Given the description of an element on the screen output the (x, y) to click on. 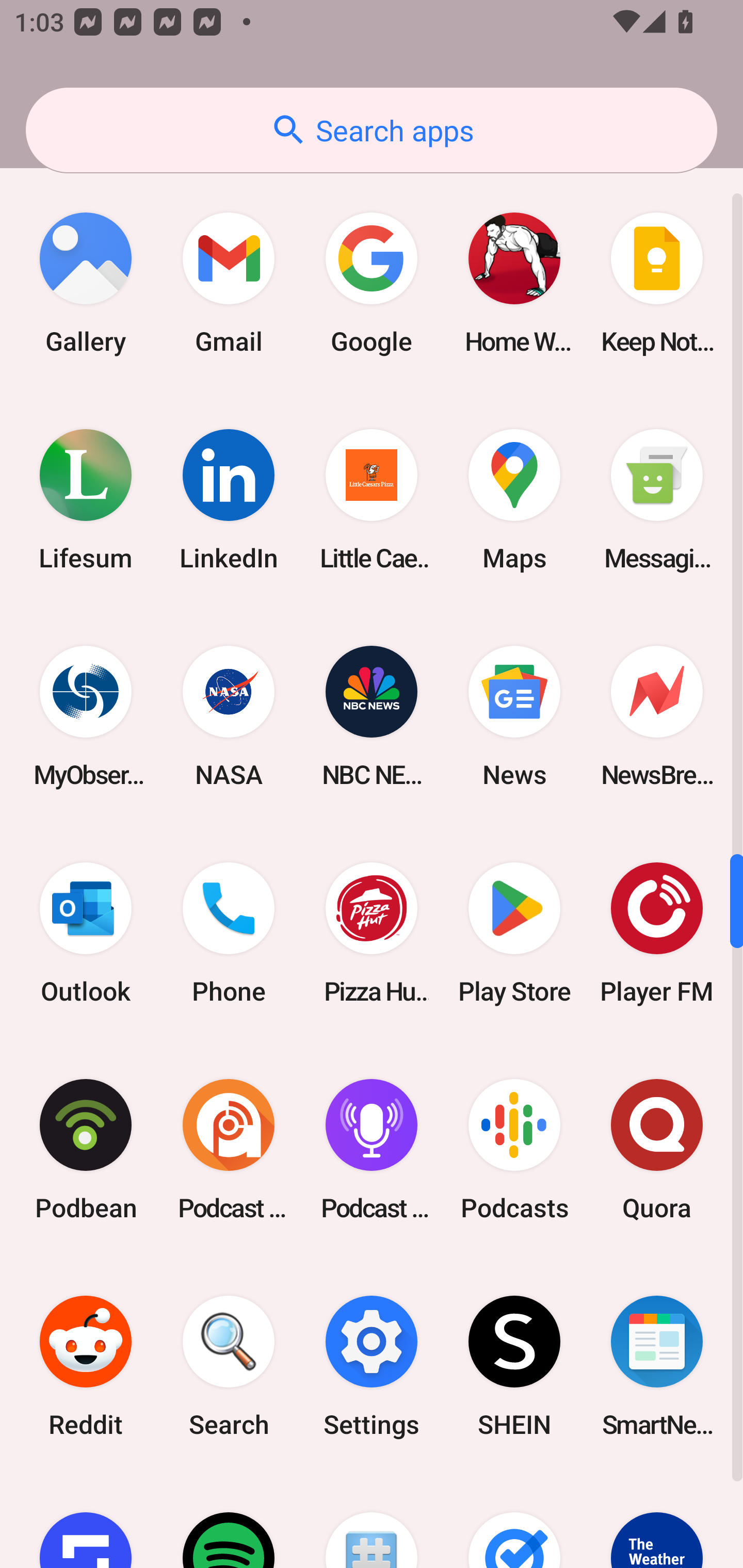
  Search apps (371, 130)
Gallery (85, 283)
Gmail (228, 283)
Google (371, 283)
Home Workout (514, 283)
Keep Notes (656, 283)
Lifesum (85, 500)
LinkedIn (228, 500)
Little Caesars Pizza (371, 500)
Maps (514, 500)
Messaging (656, 500)
MyObservatory (85, 716)
NASA (228, 716)
NBC NEWS (371, 716)
News (514, 716)
NewsBreak (656, 716)
Outlook (85, 932)
Phone (228, 932)
Pizza Hut HK & Macau (371, 932)
Play Store (514, 932)
Player FM (656, 932)
Podbean (85, 1149)
Podcast Addict (228, 1149)
Podcast Player (371, 1149)
Podcasts (514, 1149)
Quora (656, 1149)
Reddit (85, 1365)
Search (228, 1365)
Settings (371, 1365)
SHEIN (514, 1365)
SmartNews (656, 1365)
Sofascore (85, 1520)
Spotify (228, 1520)
Superuser (371, 1520)
Tasks (514, 1520)
The Weather Channel (656, 1520)
